Given the description of an element on the screen output the (x, y) to click on. 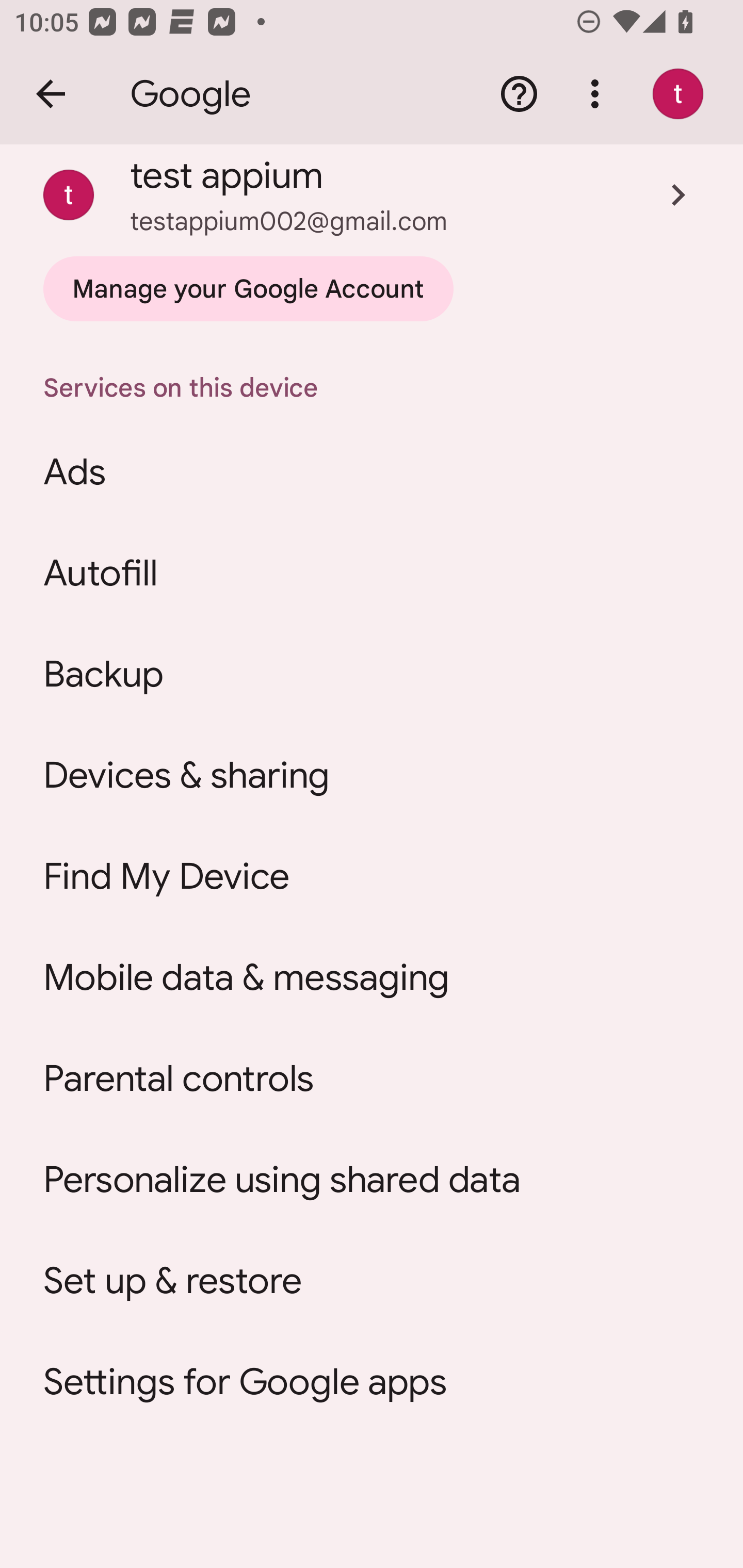
Navigate up (50, 93)
Help & feedback (518, 93)
More options (598, 93)
Manage your Google Account (248, 289)
Ads (371, 472)
Autofill (371, 573)
Backup (371, 674)
Devices & sharing (371, 775)
Find My Device (371, 876)
Mobile data & messaging (371, 977)
Parental controls (371, 1078)
Personalize using shared data (371, 1179)
Set up & restore (371, 1280)
Settings for Google apps (371, 1382)
